Given the description of an element on the screen output the (x, y) to click on. 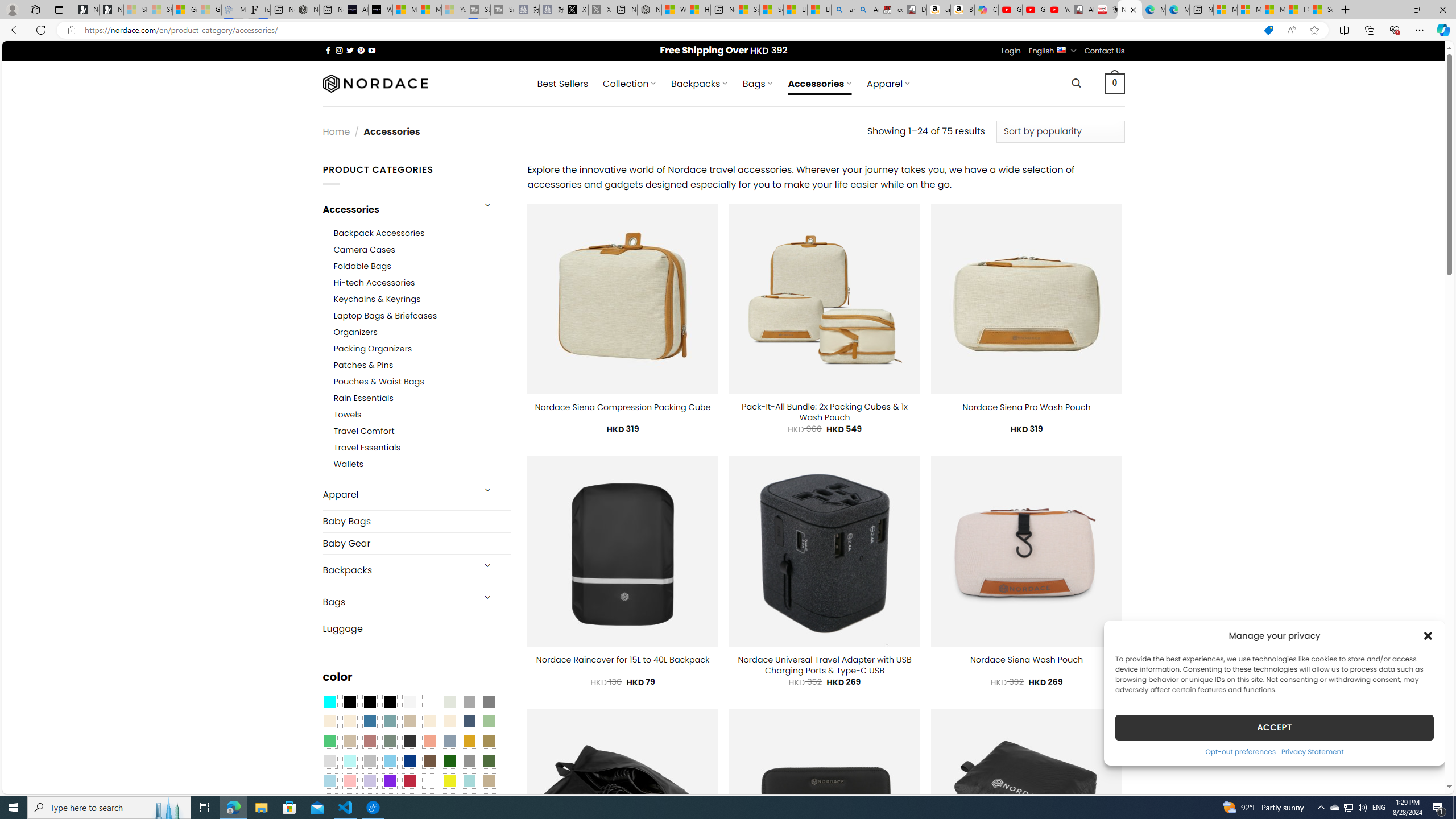
Foldable Bags (422, 265)
Pink (349, 780)
Baby Gear (416, 543)
Light Purple (369, 780)
Caramel (429, 721)
 Best Sellers (562, 83)
Pearly White (408, 701)
Huge shark washes ashore at New York City beach | Watch (697, 9)
Charcoal (408, 741)
Nordace - #1 Japanese Best-Seller - Siena Smart Backpack (306, 9)
